Given the description of an element on the screen output the (x, y) to click on. 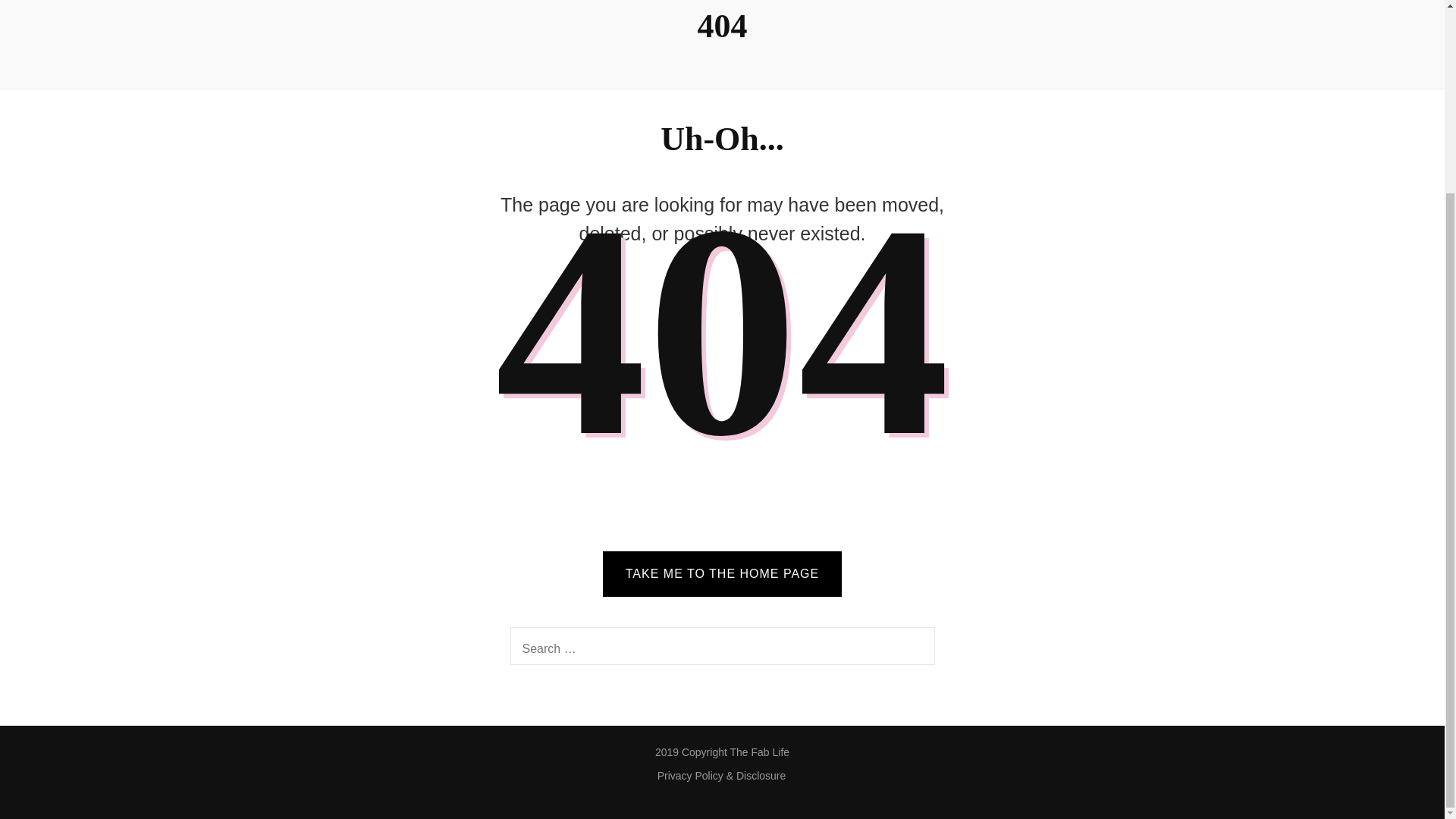
Search (914, 645)
Search (914, 645)
TAKE ME TO THE HOME PAGE (721, 574)
Search (914, 645)
